Given the description of an element on the screen output the (x, y) to click on. 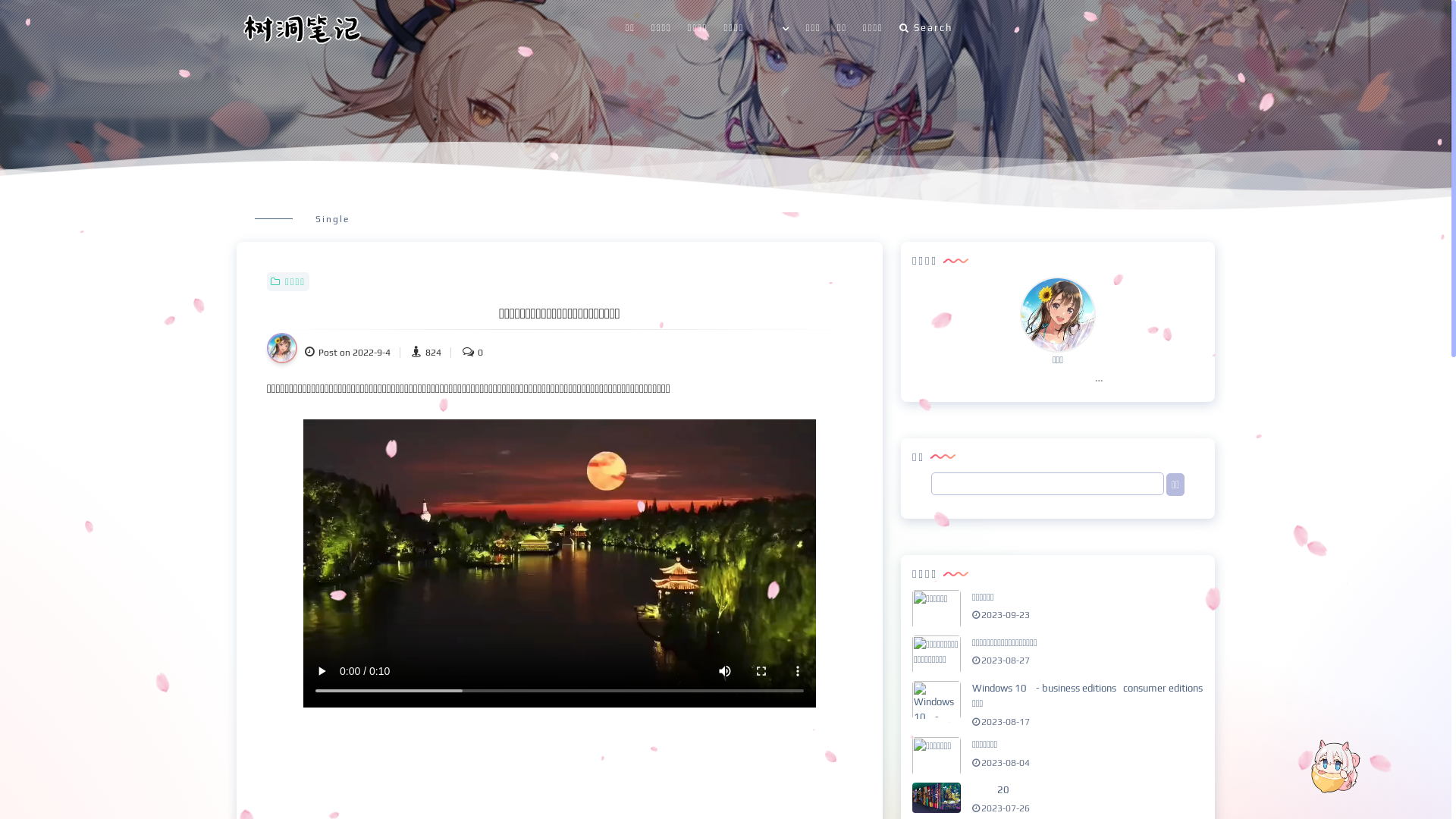
Search Element type: text (925, 27)
